Given the description of an element on the screen output the (x, y) to click on. 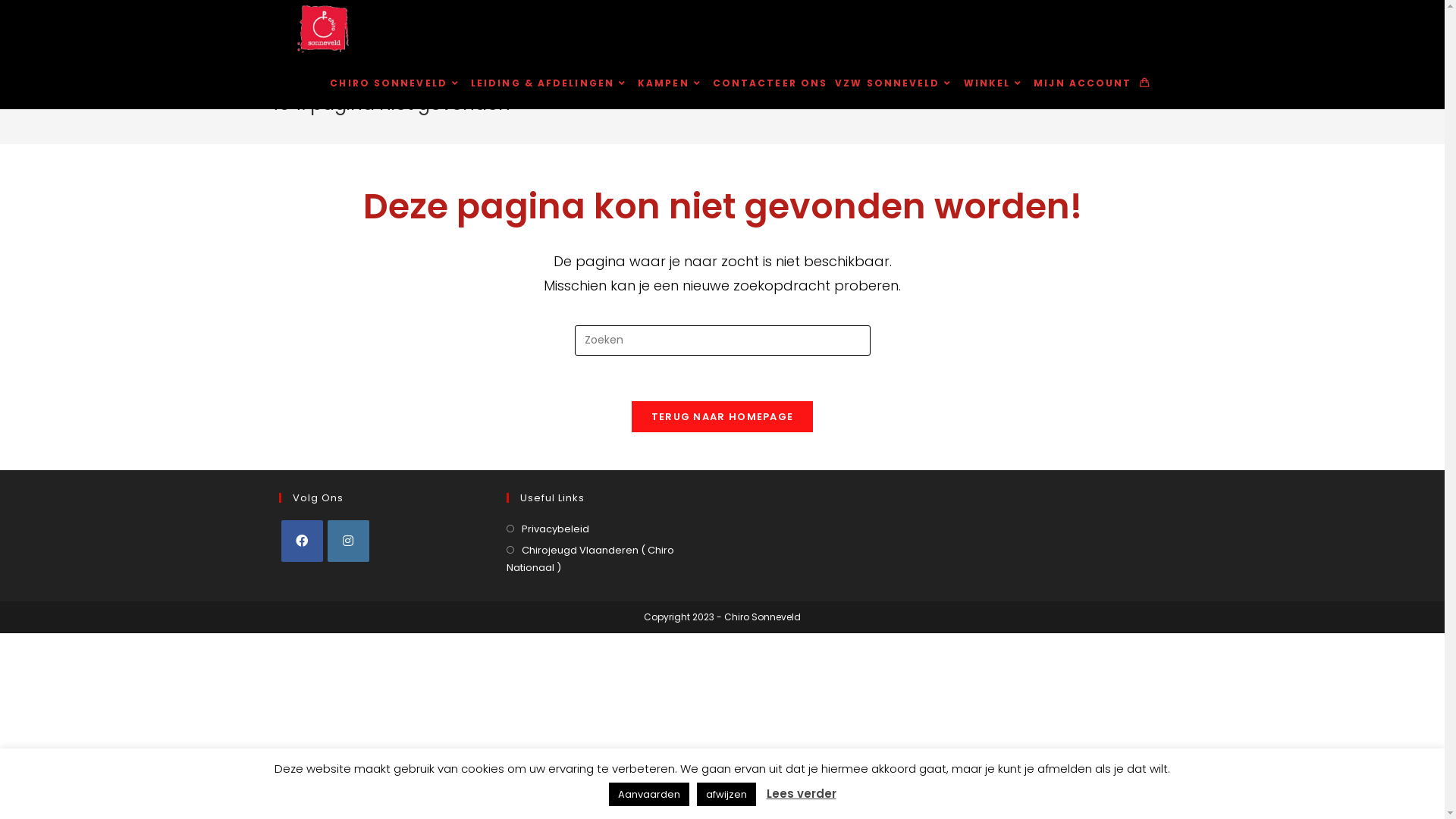
WINKEL Element type: text (995, 82)
Privacybeleid Element type: text (547, 528)
VZW SONNEVELD Element type: text (895, 82)
CONTACTEER ONS Element type: text (770, 82)
CHIRO SONNEVELD Element type: text (396, 82)
Lees verder Element type: text (800, 793)
MIJN ACCOUNT Element type: text (1082, 82)
KAMPEN Element type: text (671, 82)
Aanvaarden Element type: text (648, 794)
TERUG NAAR HOMEPAGE Element type: text (722, 416)
LEIDING & AFDELINGEN Element type: text (550, 82)
Chirojeugd Vlaanderen ( Chiro Nationaal ) Element type: text (608, 559)
afwijzen Element type: text (725, 794)
